Given the description of an element on the screen output the (x, y) to click on. 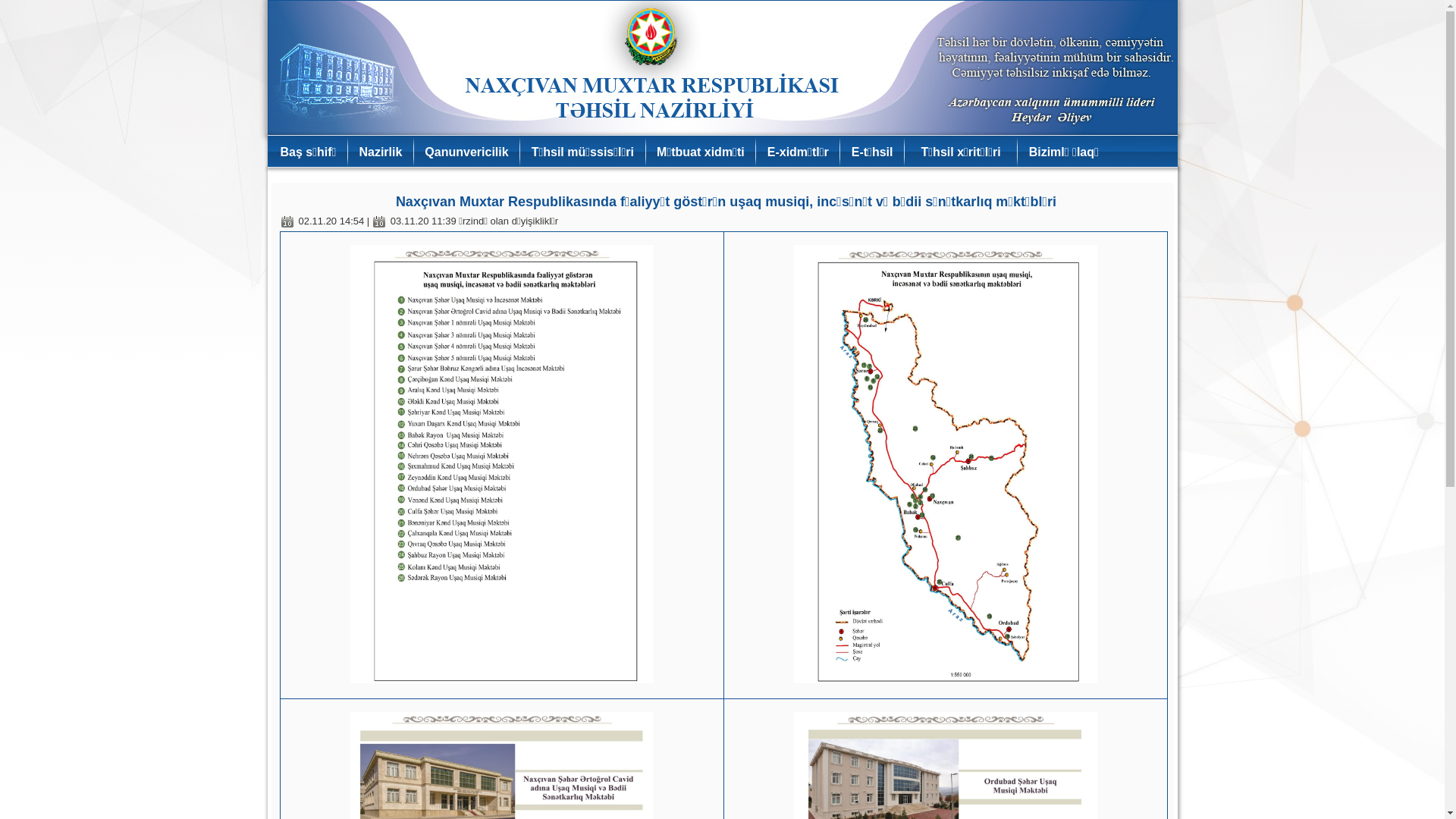
Qanunvericilik Element type: text (466, 151)
Nazirlik Element type: text (380, 151)
